Given the description of an element on the screen output the (x, y) to click on. 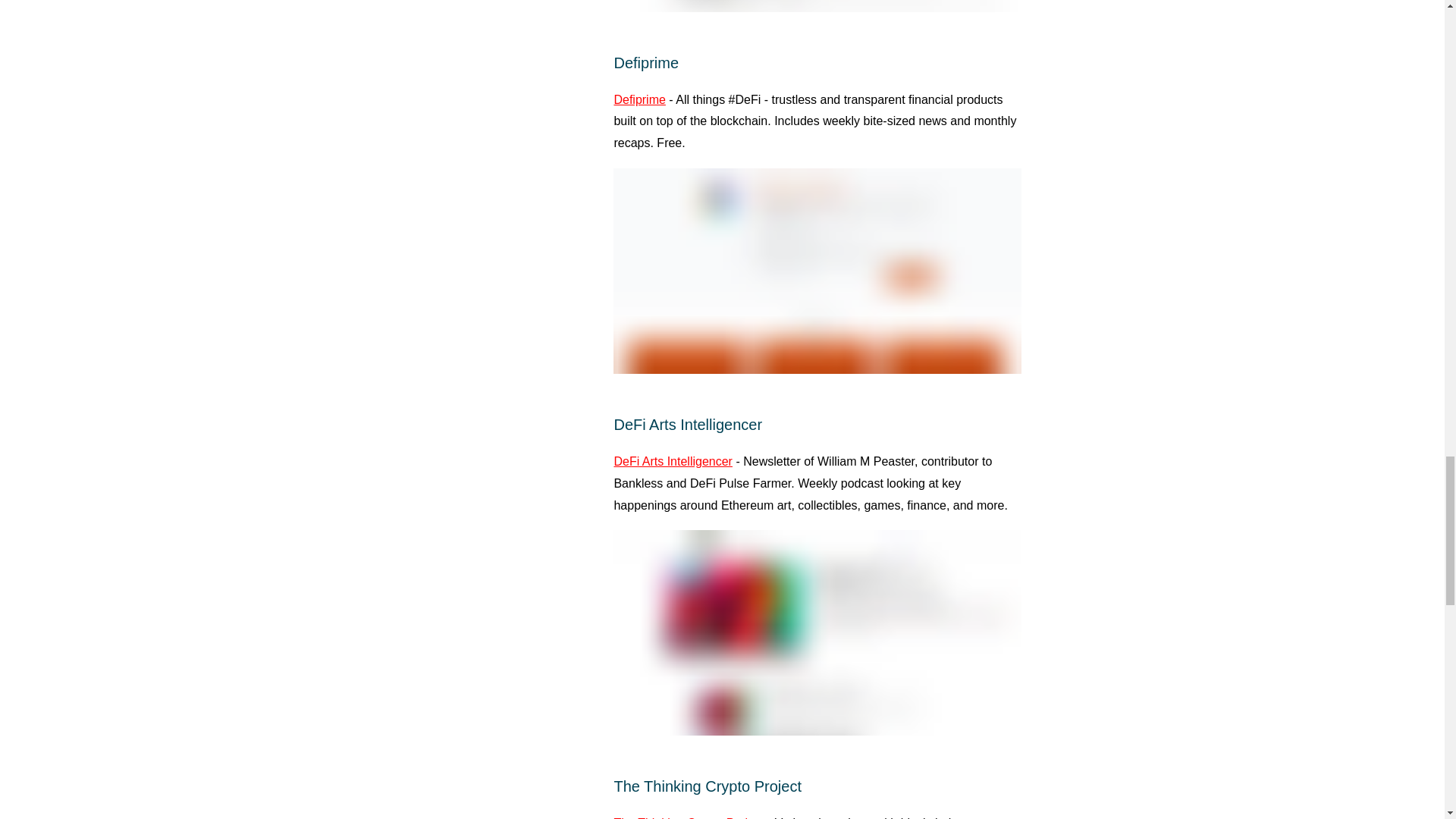
Defiprime (638, 99)
DeFi Arts Intelligencer (672, 461)
The Thinking Crypto Project (687, 817)
